Given the description of an element on the screen output the (x, y) to click on. 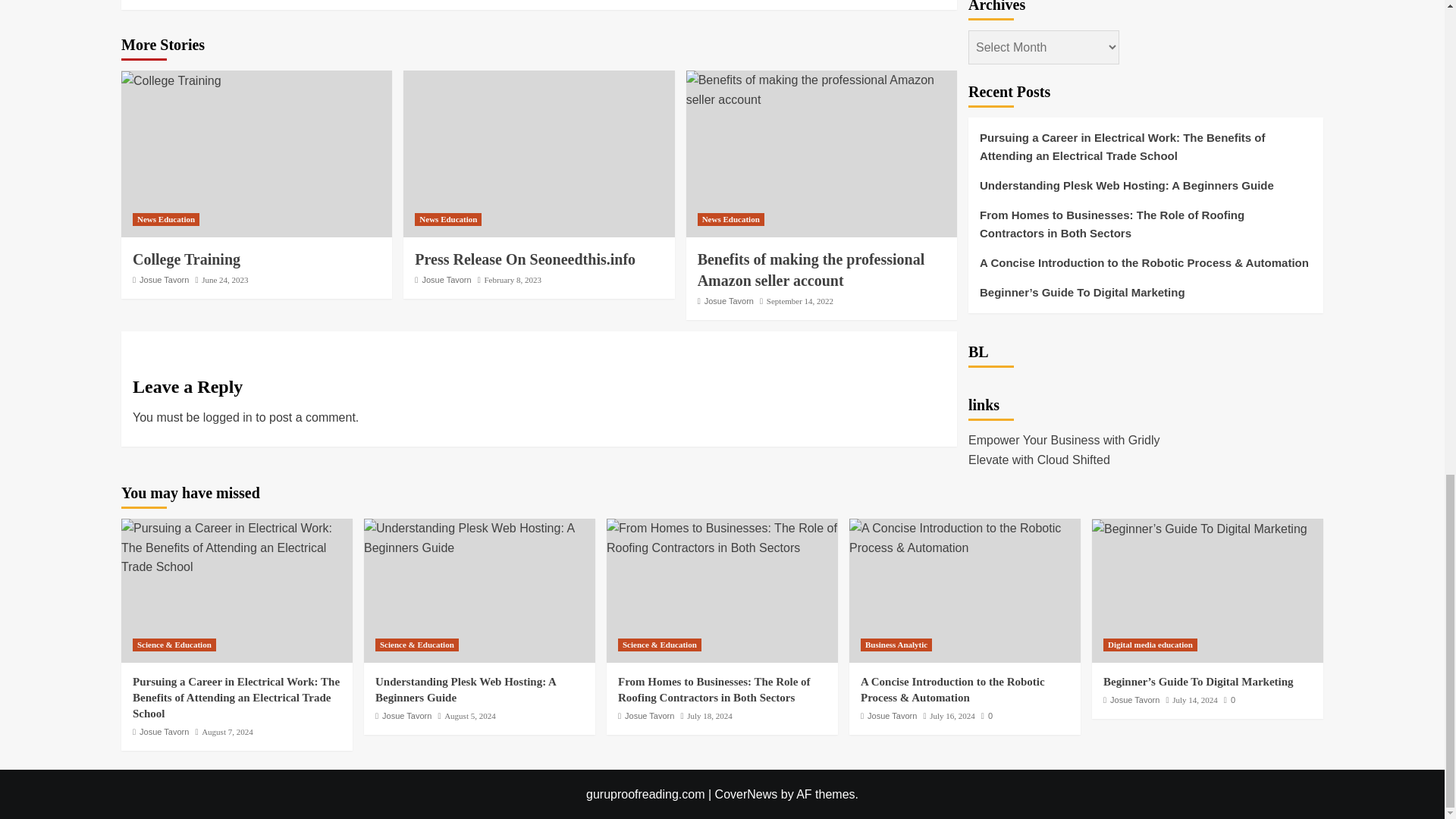
Josue Tavorn (164, 279)
Press Release On Seoneedthis.info (524, 258)
News Education (165, 219)
February 8, 2023 (511, 279)
College Training (170, 80)
News Education (730, 219)
College Training (186, 258)
Understanding Plesk Web Hosting: A Beginners Guide (479, 537)
News Education (447, 219)
